Given the description of an element on the screen output the (x, y) to click on. 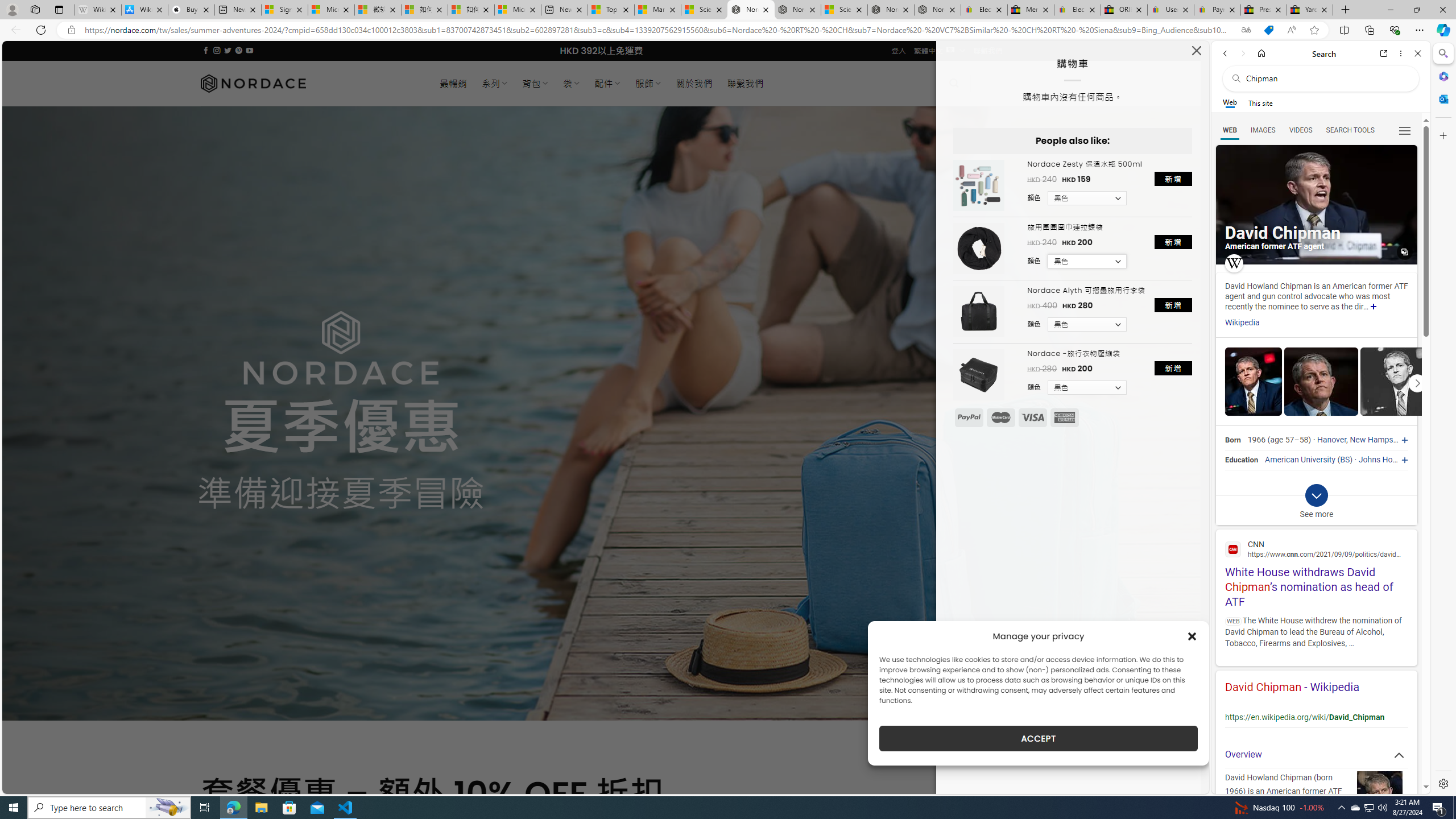
Class: cmplz-close (1192, 636)
  0   (992, 83)
Top Stories - MSN (610, 9)
Follow on Facebook (205, 50)
User Privacy Notice | eBay (1170, 9)
Follow on YouTube (249, 50)
Marine life - MSN (656, 9)
New Hampshire (1377, 439)
Read aloud this page (Ctrl+Shift+U) (1291, 29)
Minimize (1390, 9)
